Given the description of an element on the screen output the (x, y) to click on. 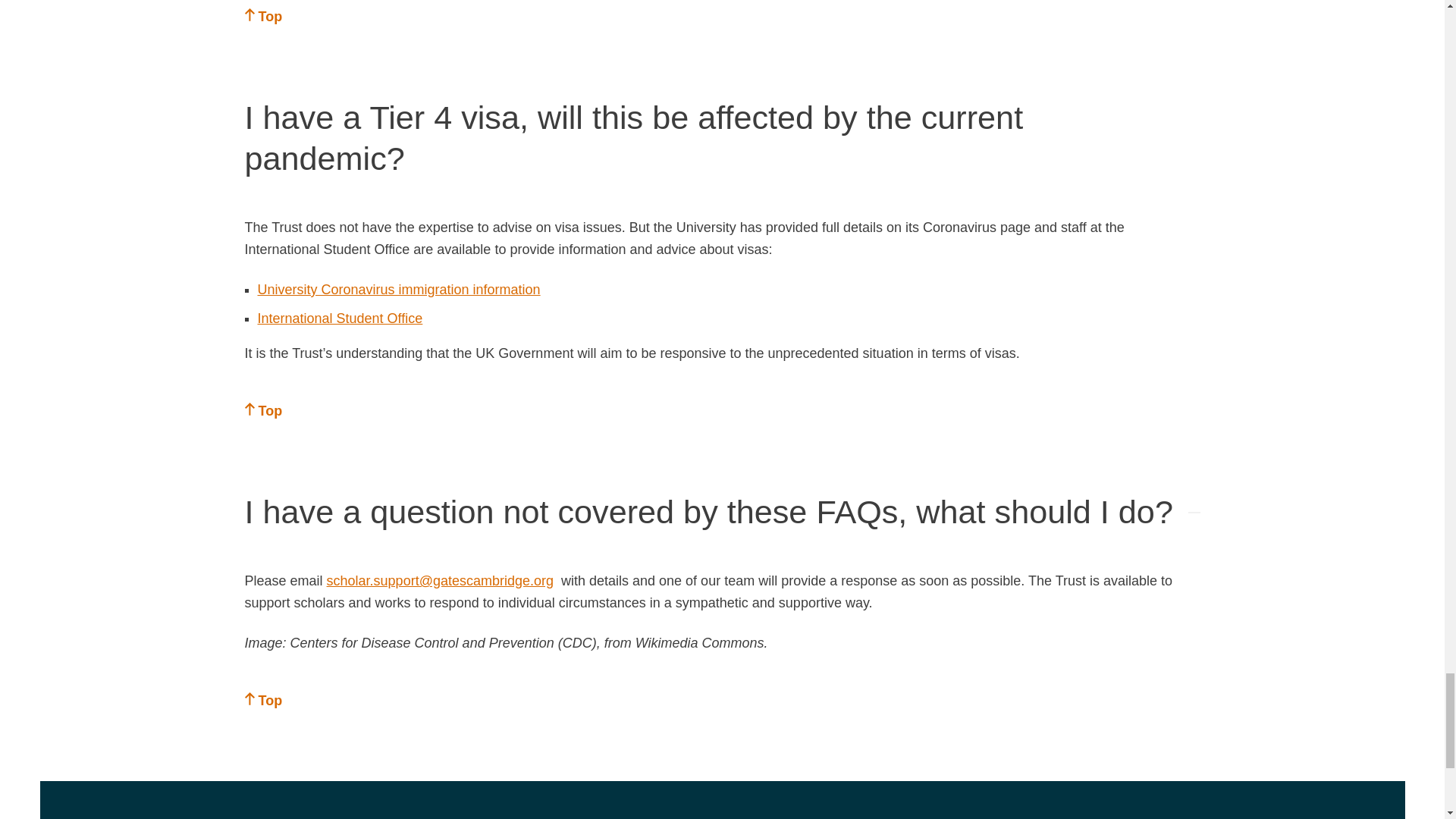
Top (263, 16)
Top (263, 700)
Top (263, 410)
